Given the description of an element on the screen output the (x, y) to click on. 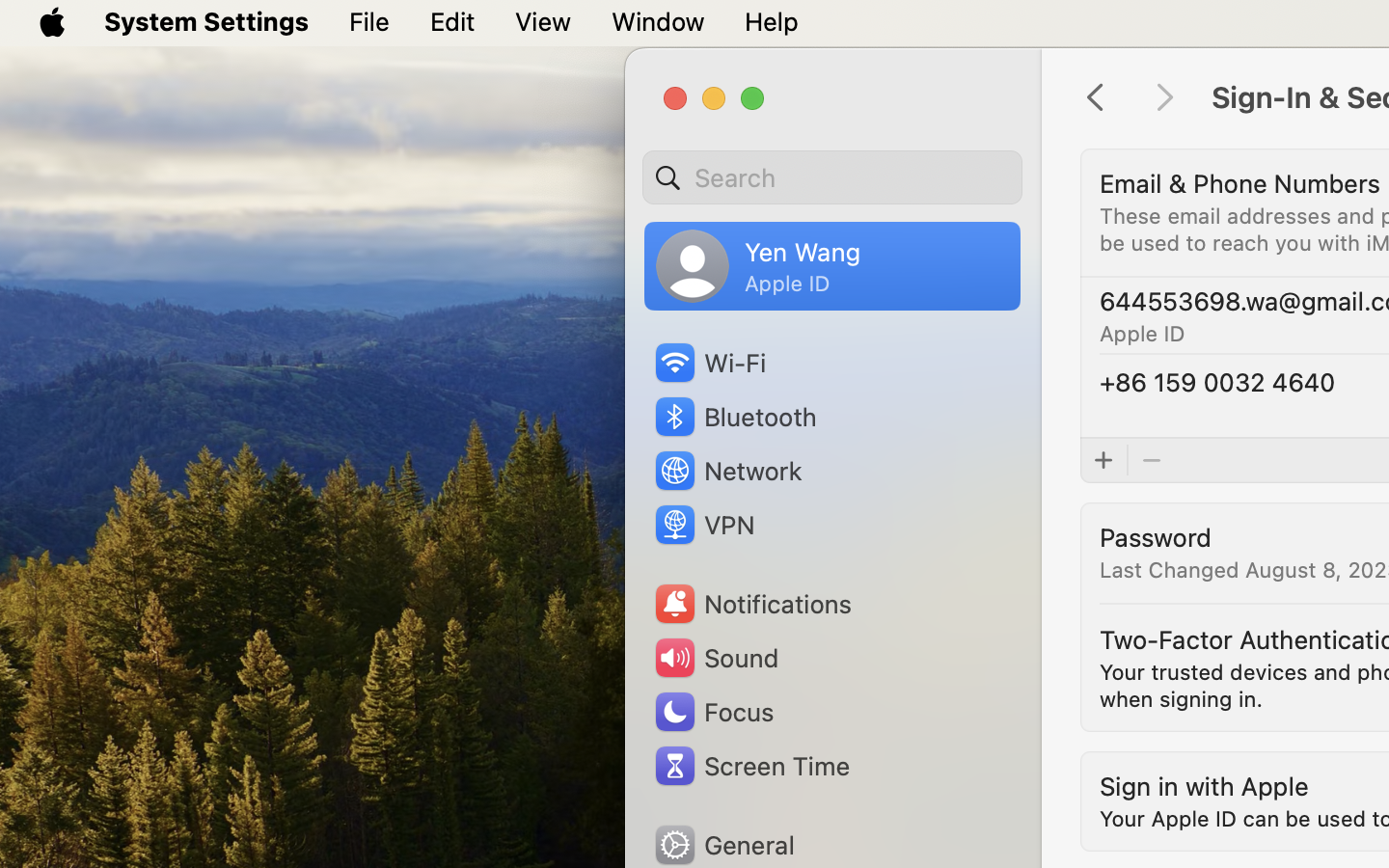
Notifications Element type: AXStaticText (752, 603)
Screen Time Element type: AXStaticText (751, 765)
Bluetooth Element type: AXStaticText (734, 416)
Password Element type: AXStaticText (1155, 535)
VPN Element type: AXStaticText (703, 524)
